Given the description of an element on the screen output the (x, y) to click on. 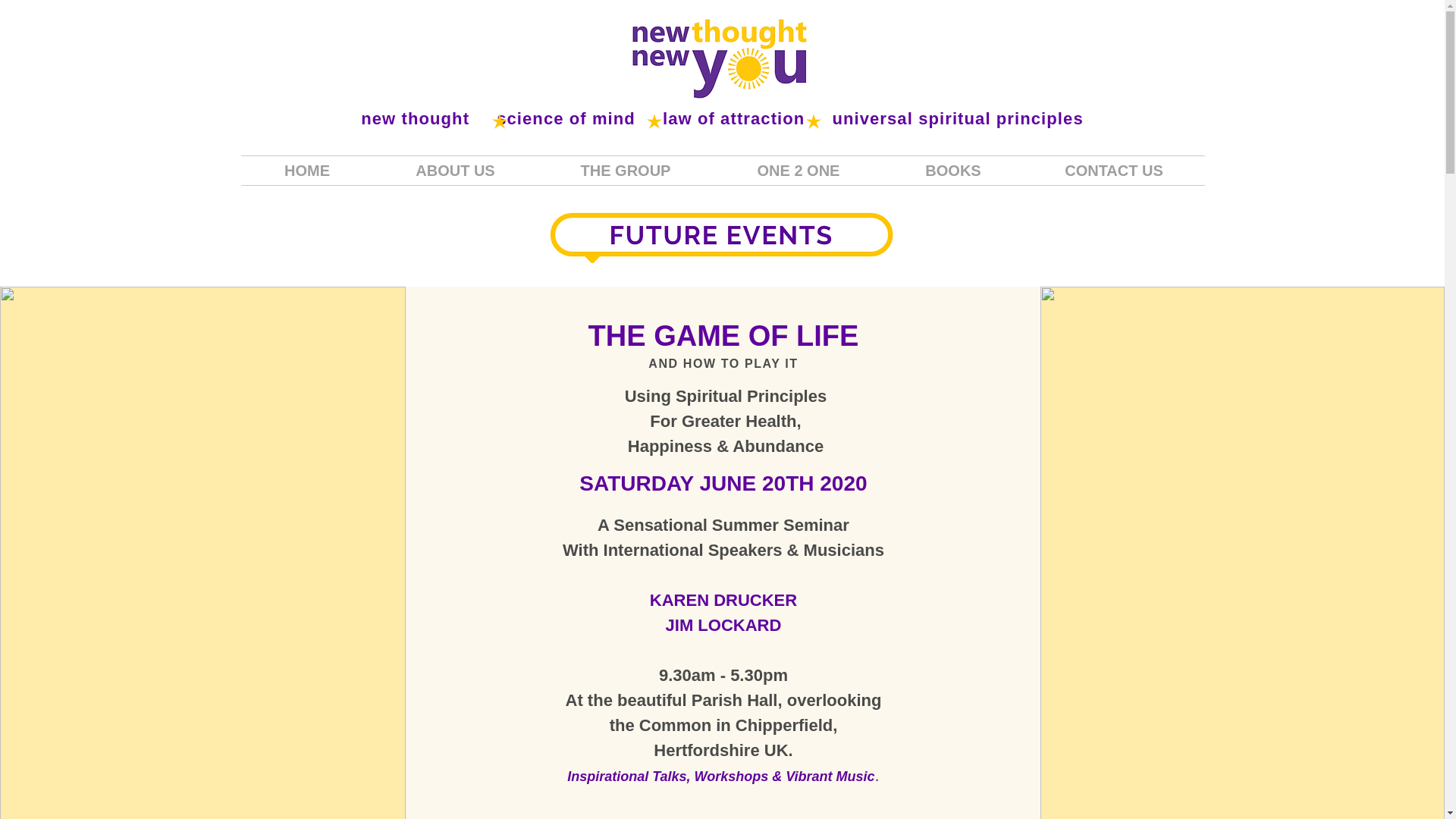
HOME (307, 170)
ABOUT US (454, 170)
CONTACT US (1114, 170)
ONE 2 ONE (798, 170)
BOOKS (952, 170)
THE GROUP (625, 170)
